Given the description of an element on the screen output the (x, y) to click on. 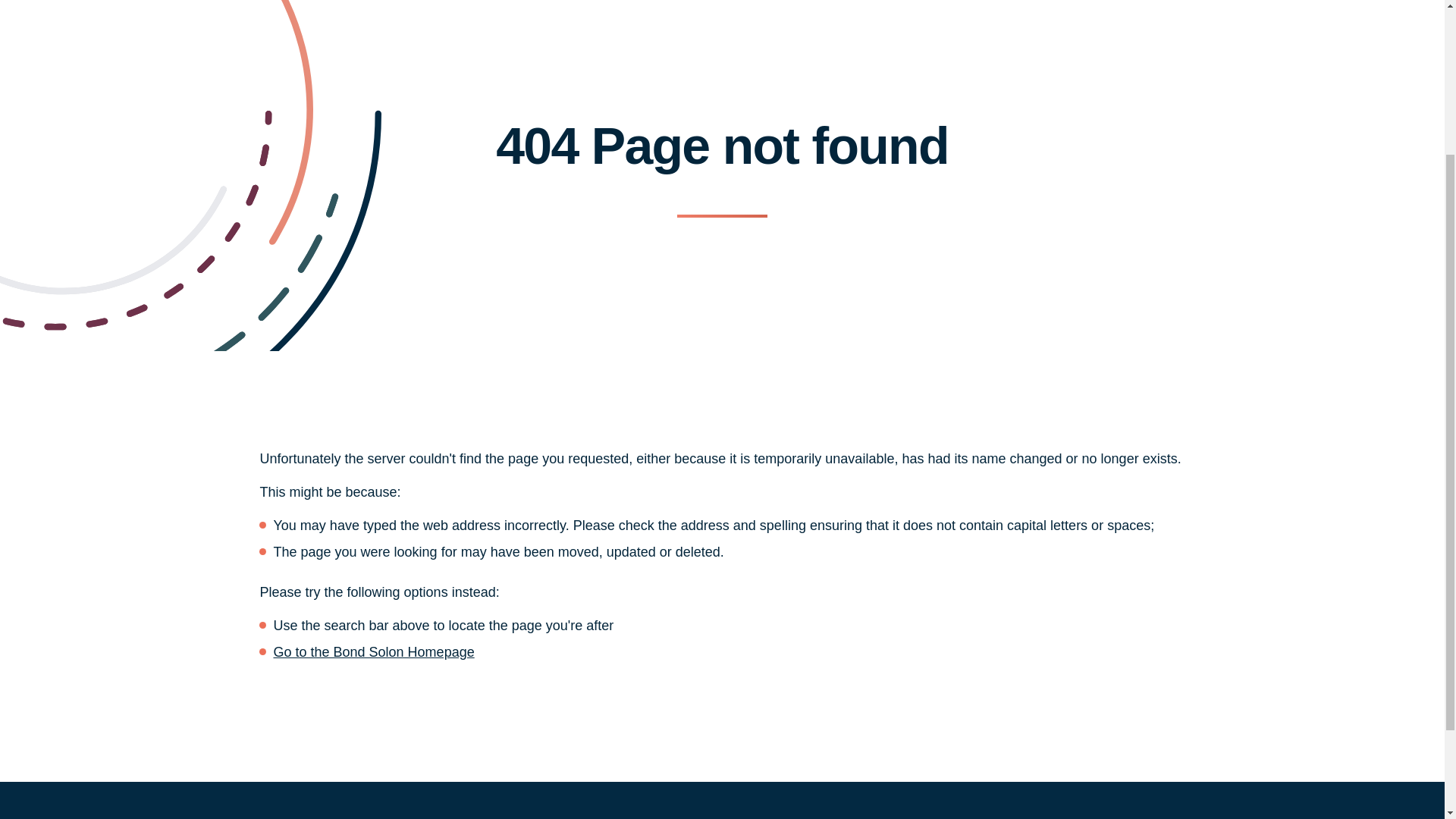
bondsolon.com (373, 652)
